Given the description of an element on the screen output the (x, y) to click on. 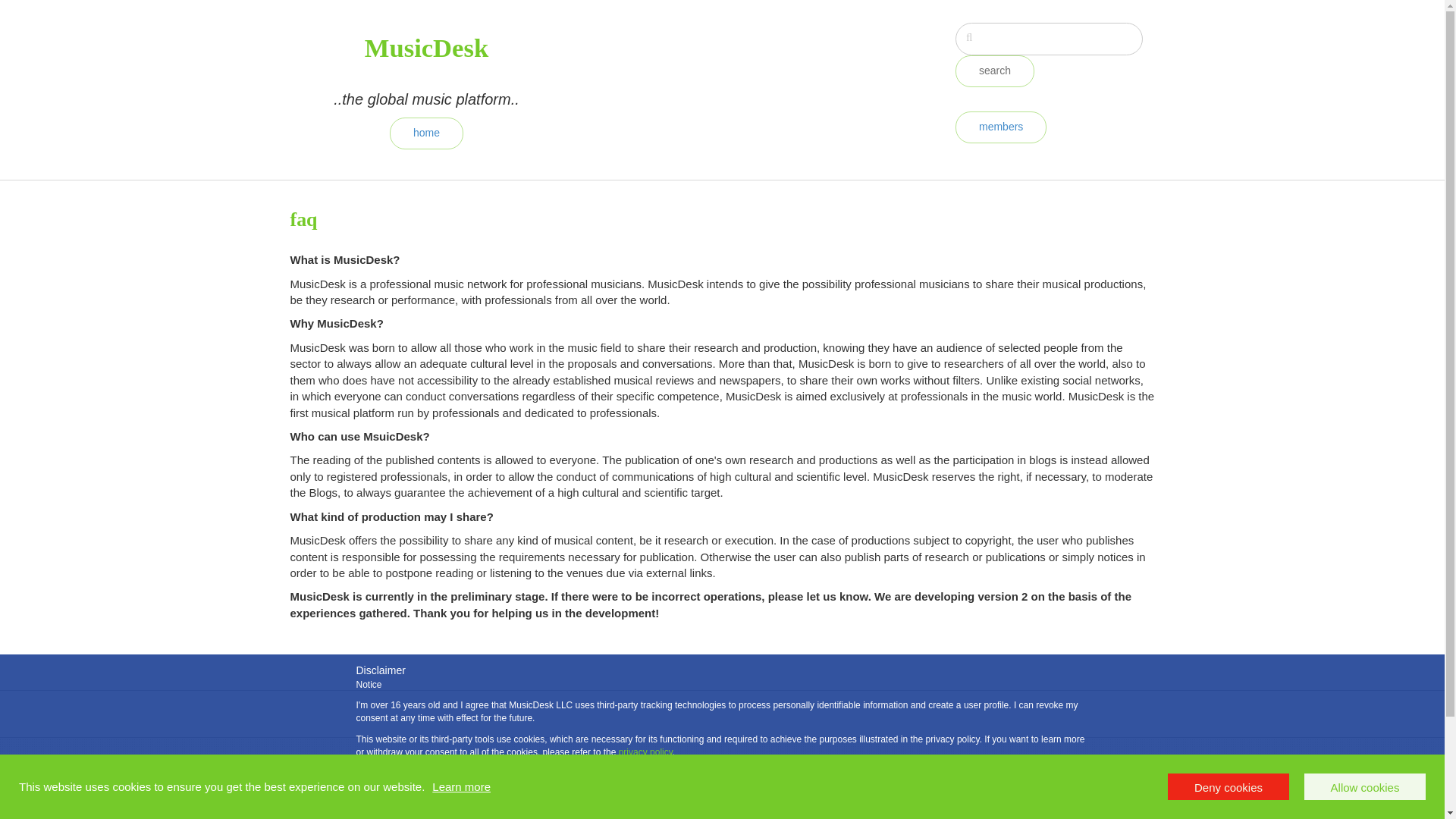
members (1000, 126)
privacy policy (645, 751)
Deny cookies (1227, 786)
search (994, 70)
contact us (1054, 793)
Allow cookies (1364, 786)
search (994, 70)
Learn more (461, 786)
search (994, 70)
faq (832, 793)
home (426, 132)
